Given the description of an element on the screen output the (x, y) to click on. 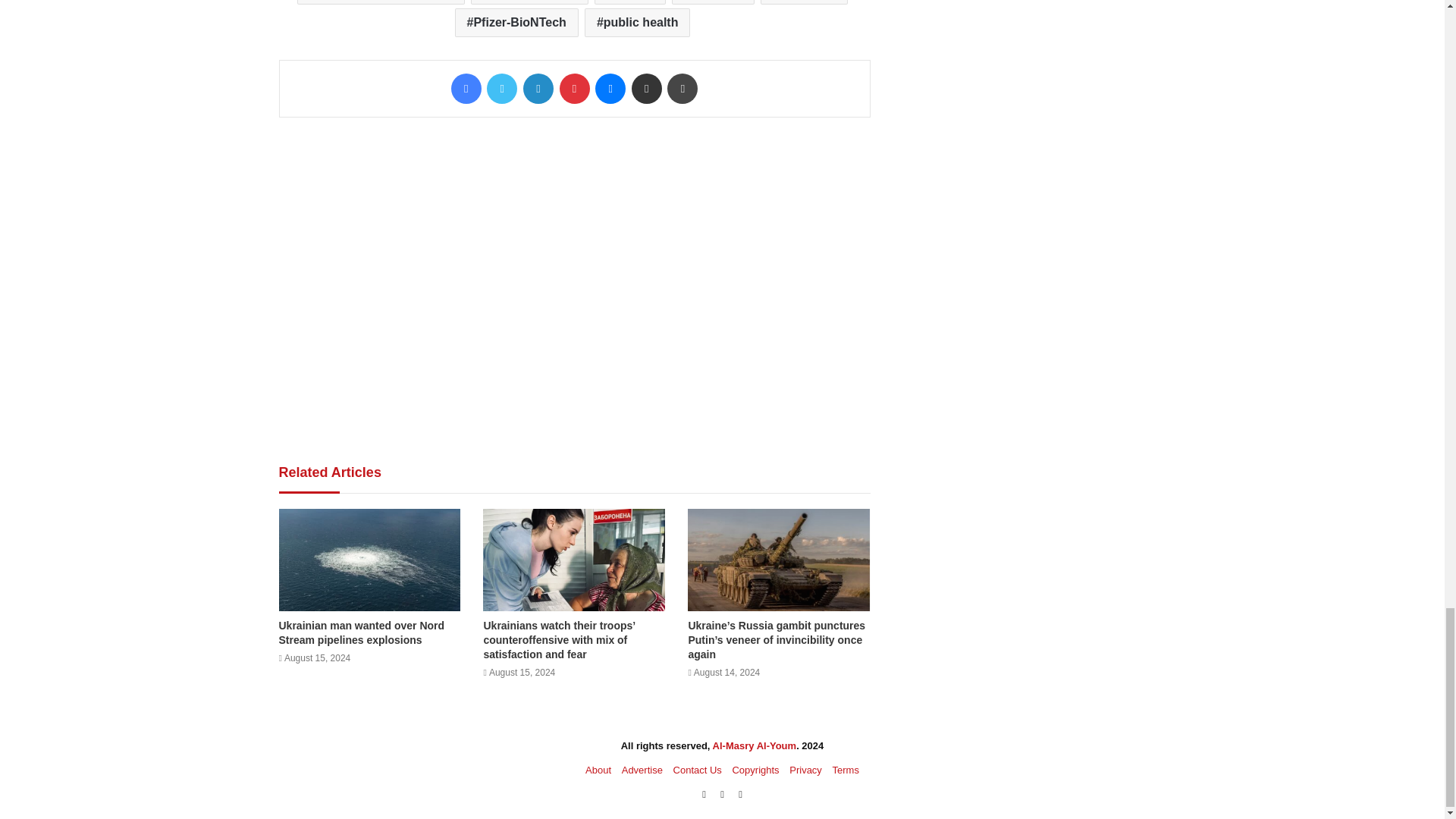
LinkedIn (537, 88)
outbreak (712, 2)
europe (629, 2)
Pinterest (574, 88)
pandemic (804, 2)
public health (637, 22)
Messenger (610, 88)
Messenger (610, 88)
Twitter (501, 88)
Twitter (501, 88)
